Given the description of an element on the screen output the (x, y) to click on. 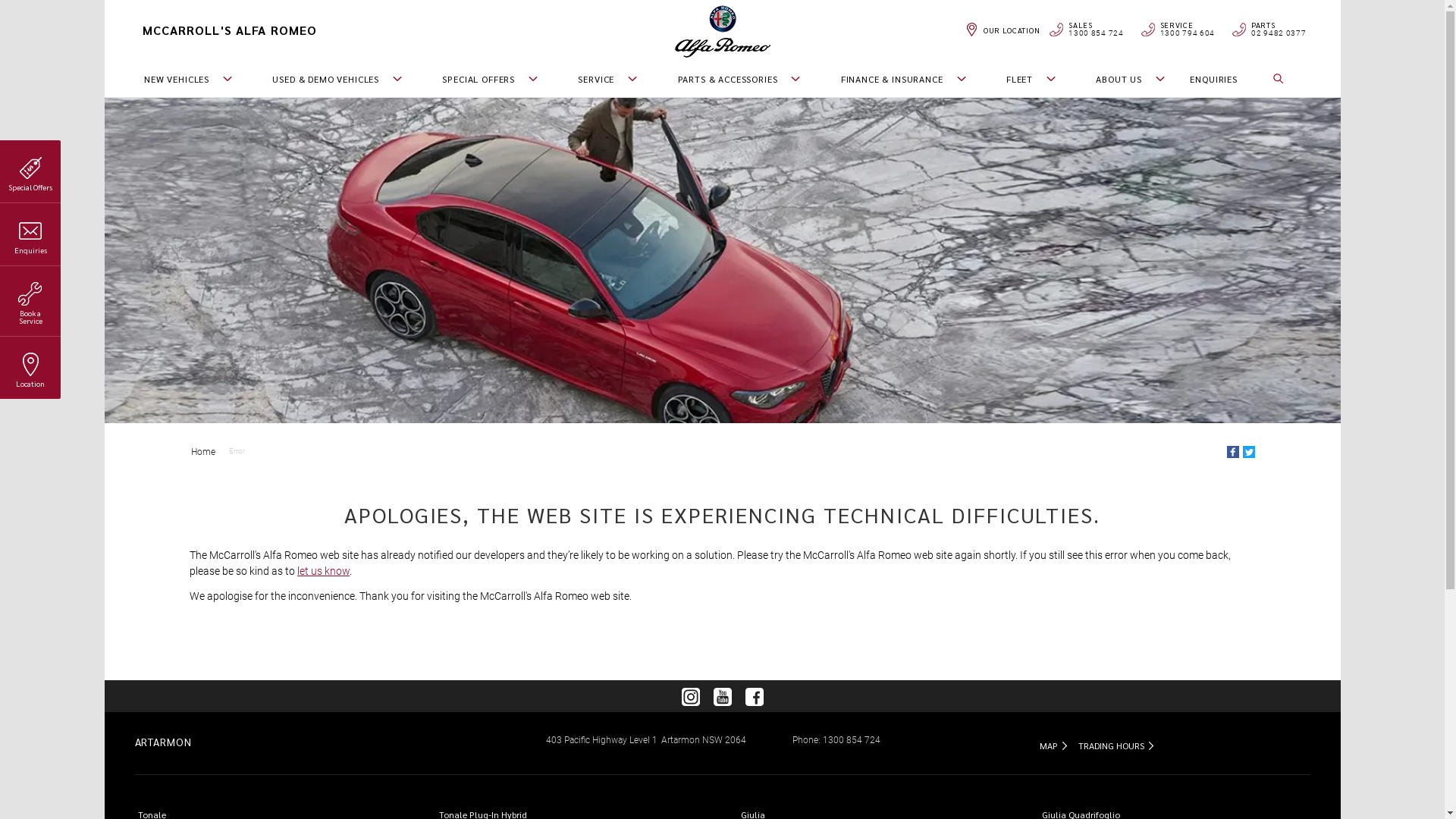
1300 854 724 Element type: text (851, 739)
let us know Element type: text (323, 570)
Location Element type: text (30, 367)
TRADING HOURS Element type: text (1115, 745)
PARTS
02 9482 0377 Element type: text (1267, 29)
Twitter Element type: hover (1248, 451)
SEARCH Element type: text (1288, 78)
Follow Us on Instagram Element type: hover (690, 696)
FINANCE & INSURANCE Element type: text (895, 78)
SERVICE
1300 794 604 Element type: text (1176, 29)
Facebook Element type: hover (1232, 451)
NEW VEHICLES Element type: text (180, 78)
OUR LOCATION Element type: text (1000, 29)
MAP Element type: text (1052, 745)
SPECIAL OFFERS Element type: text (482, 78)
Enquiries Element type: text (30, 234)
FLEET Element type: text (1023, 78)
PARTS & ACCESSORIES Element type: text (730, 78)
SERVICE Element type: text (599, 78)
MCCARROLL'S ALFA ROMEO Element type: text (312, 29)
ENQUIRIES Element type: text (1213, 78)
ABOUT US Element type: text (1122, 78)
Special Offers Element type: text (30, 171)
Visit our YouTube Channel Element type: hover (722, 696)
McCarroll's Alfa Romeo Element type: hover (722, 30)
Become a Friend on Facebook Element type: hover (754, 696)
SALES
1300 854 724 Element type: text (1085, 29)
USED & DEMO VEHICLES Element type: text (329, 78)
Book a Service Element type: text (30, 300)
Home Element type: text (203, 451)
